Given the description of an element on the screen output the (x, y) to click on. 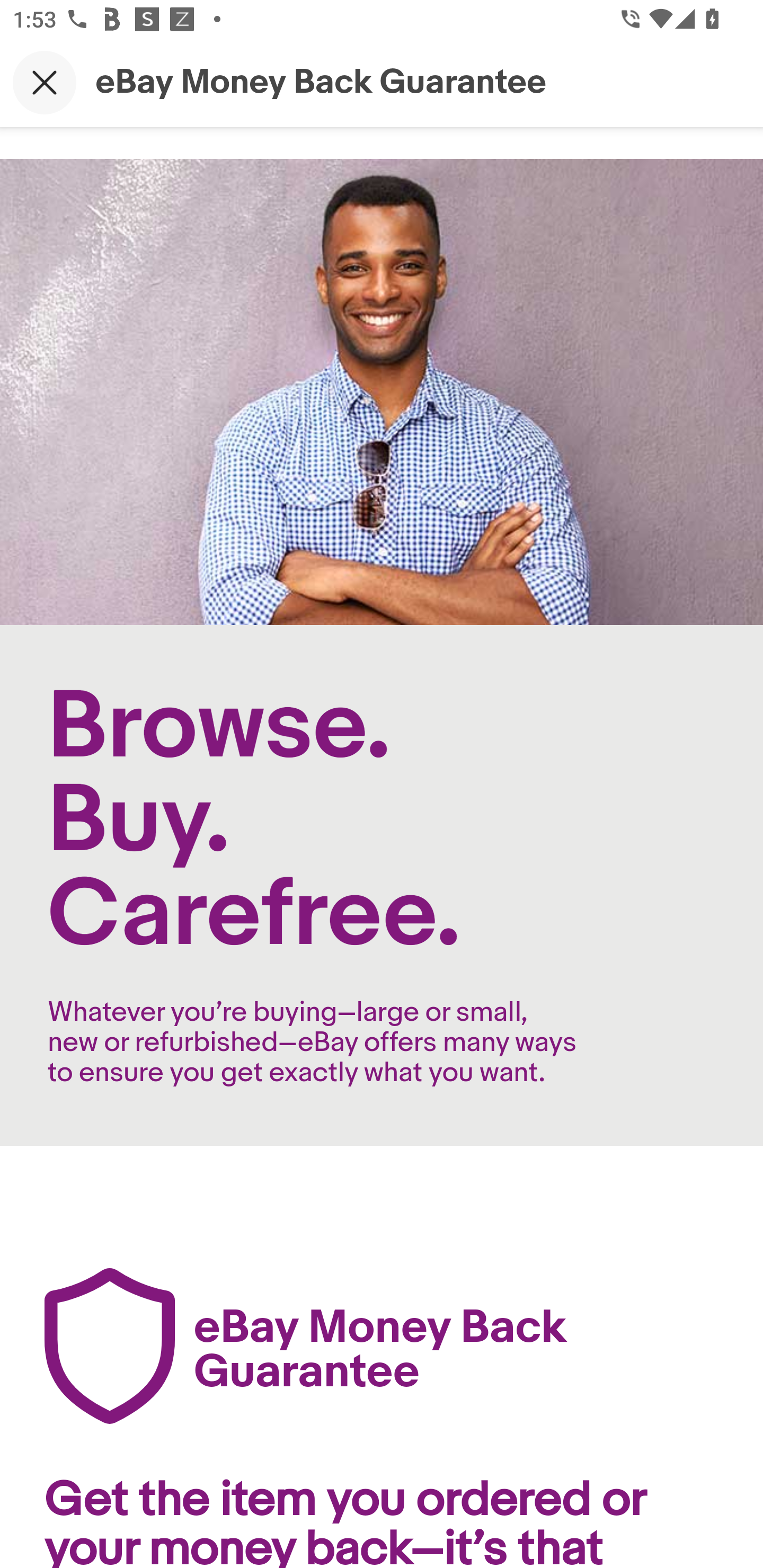
Close (44, 82)
